Given the description of an element on the screen output the (x, y) to click on. 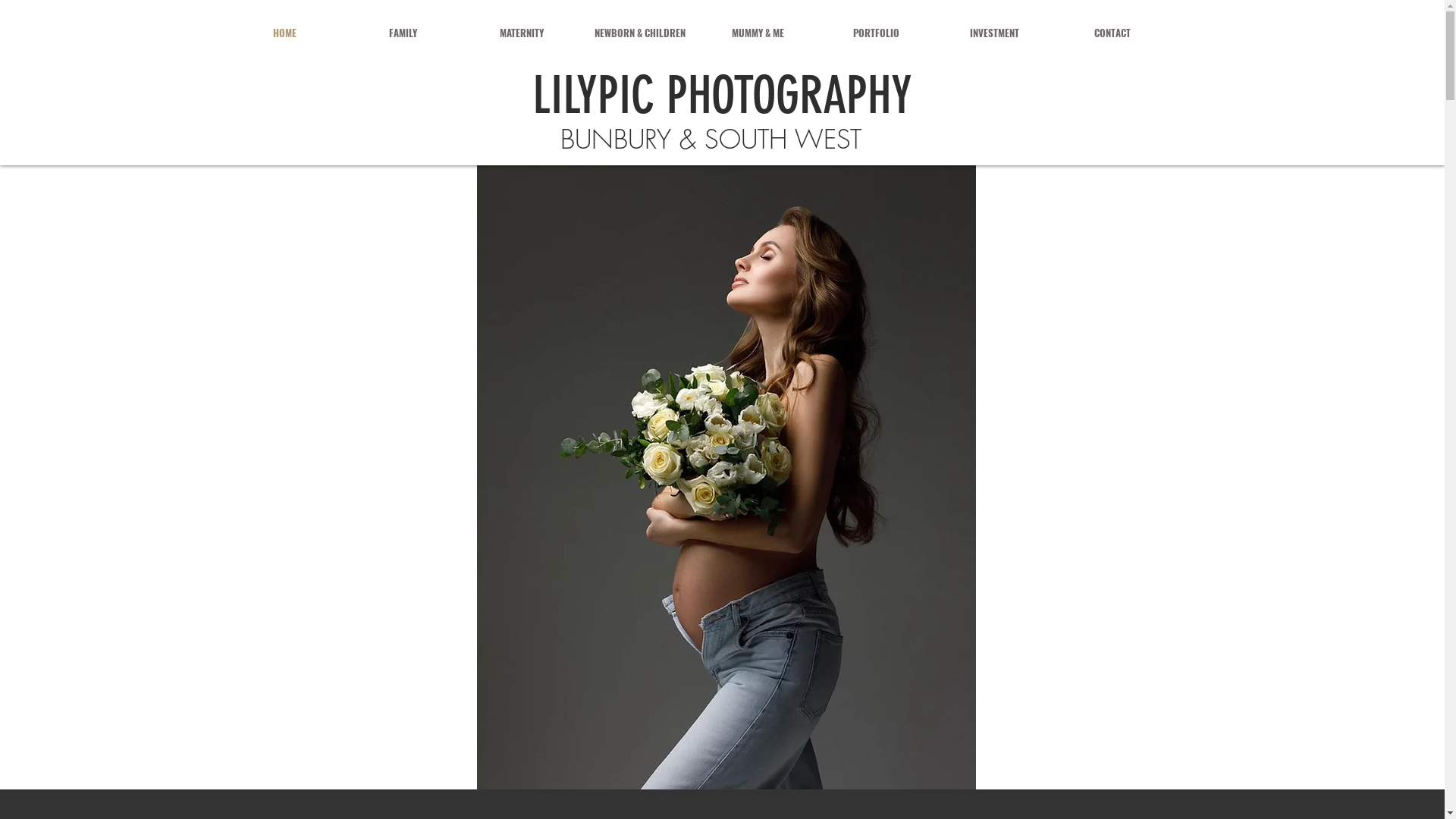
MUMMY & ME Element type: text (758, 32)
NEWBORN & CHILDREN Element type: text (639, 32)
CONTACT Element type: text (1112, 32)
LILYPIC PHOTOGRAPHY Element type: text (722, 94)
BUNBURY & SOUTH WEST Element type: text (709, 145)
MATERNITY Element type: text (521, 32)
INVESTMENT Element type: text (994, 32)
PORTFOLIO Element type: text (876, 32)
HOME Element type: text (284, 32)
Bunbury & Southwest best family photographer Element type: hover (725, 477)
FAMILY Element type: text (403, 32)
